Given the description of an element on the screen output the (x, y) to click on. 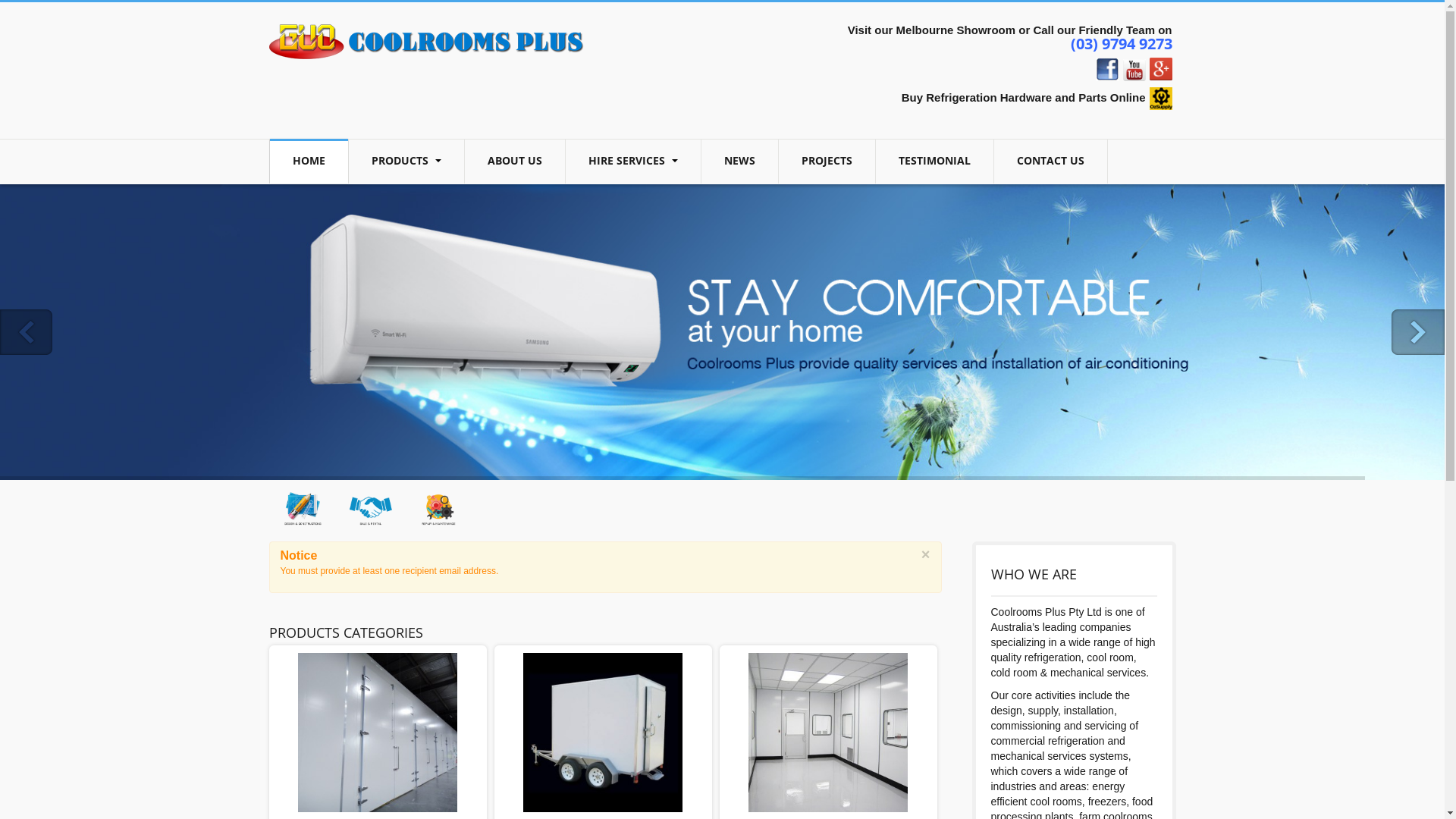
TESTIMONIAL Element type: text (933, 161)
Cool Room Plus Element type: hover (425, 41)
NEWS Element type: text (738, 161)
PRODUCTS Element type: text (406, 161)
CONTACT US Element type: text (1049, 161)
HOME Element type: text (308, 160)
Repair & Maintenance Element type: hover (438, 508)
Design & Constructions Element type: hover (302, 508)
PROJECTS Element type: text (826, 161)
Sale & Rental Element type: hover (370, 508)
HIRE SERVICES Element type: text (632, 161)
ABOUT US Element type: text (514, 161)
